Given the description of an element on the screen output the (x, y) to click on. 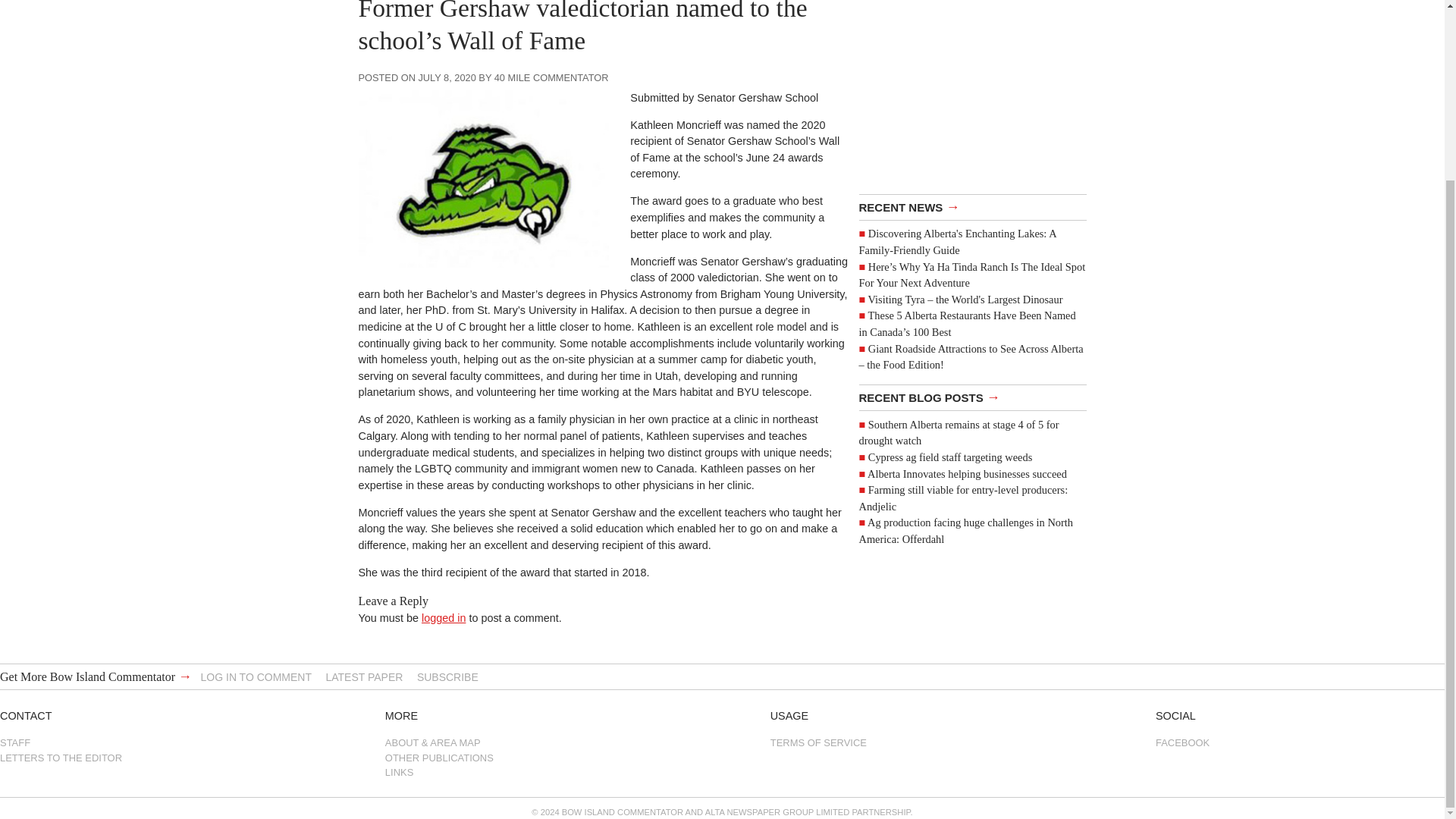
Southern Alberta remains at stage 4 of 5 for drought watch (958, 432)
SUBSCRIBE (447, 676)
Cypress ag field staff targeting weeds (949, 457)
LOG IN TO COMMENT (256, 676)
logged in (443, 617)
STAFF (144, 742)
LATEST PAPER (363, 676)
Farming still viable for entry-level producers: Andjelic (963, 498)
